Given the description of an element on the screen output the (x, y) to click on. 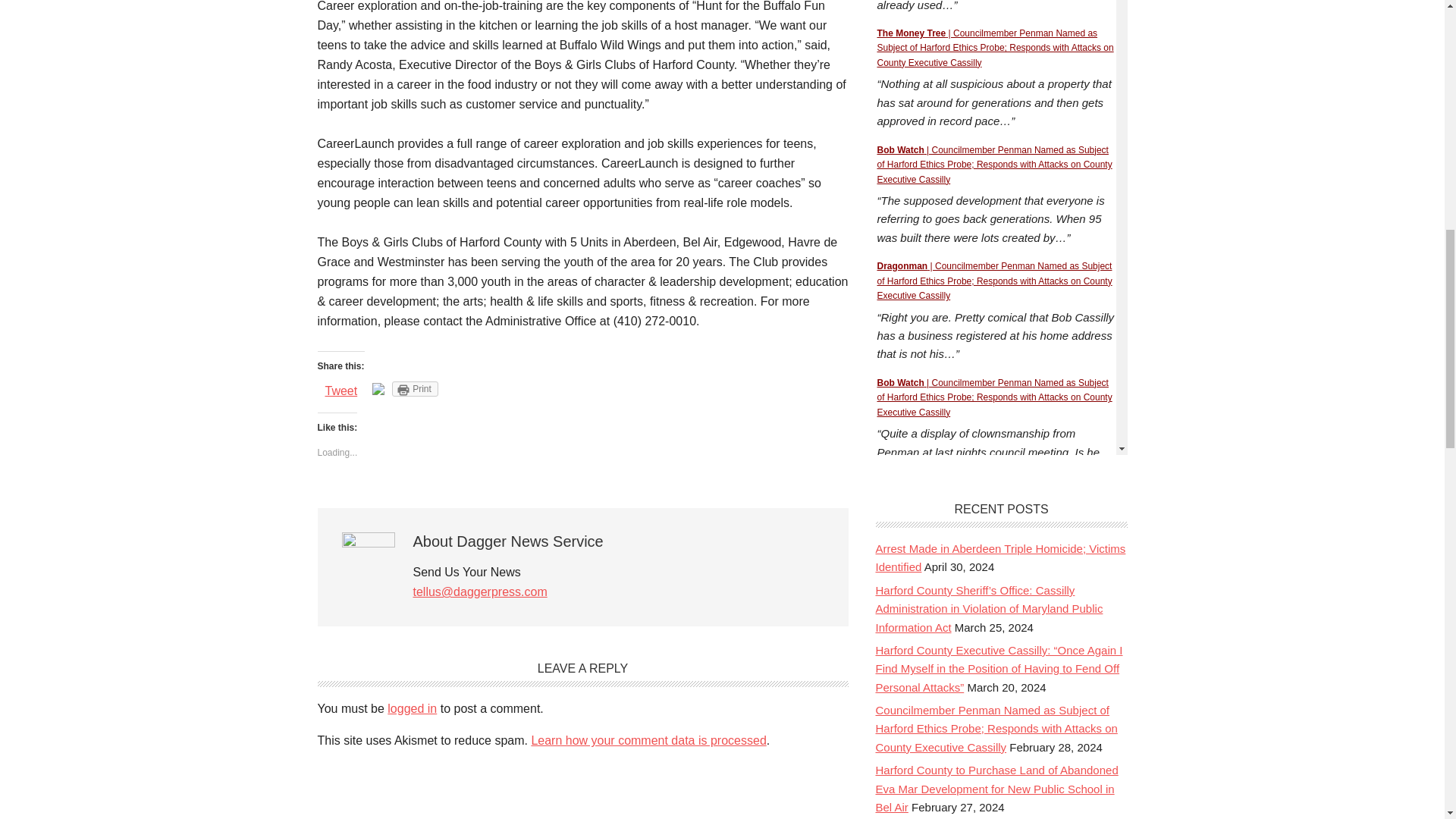
Tweet (340, 390)
Click to print (414, 388)
Print (414, 388)
Learn how your comment data is processed (648, 739)
logged in (411, 707)
